Given the description of an element on the screen output the (x, y) to click on. 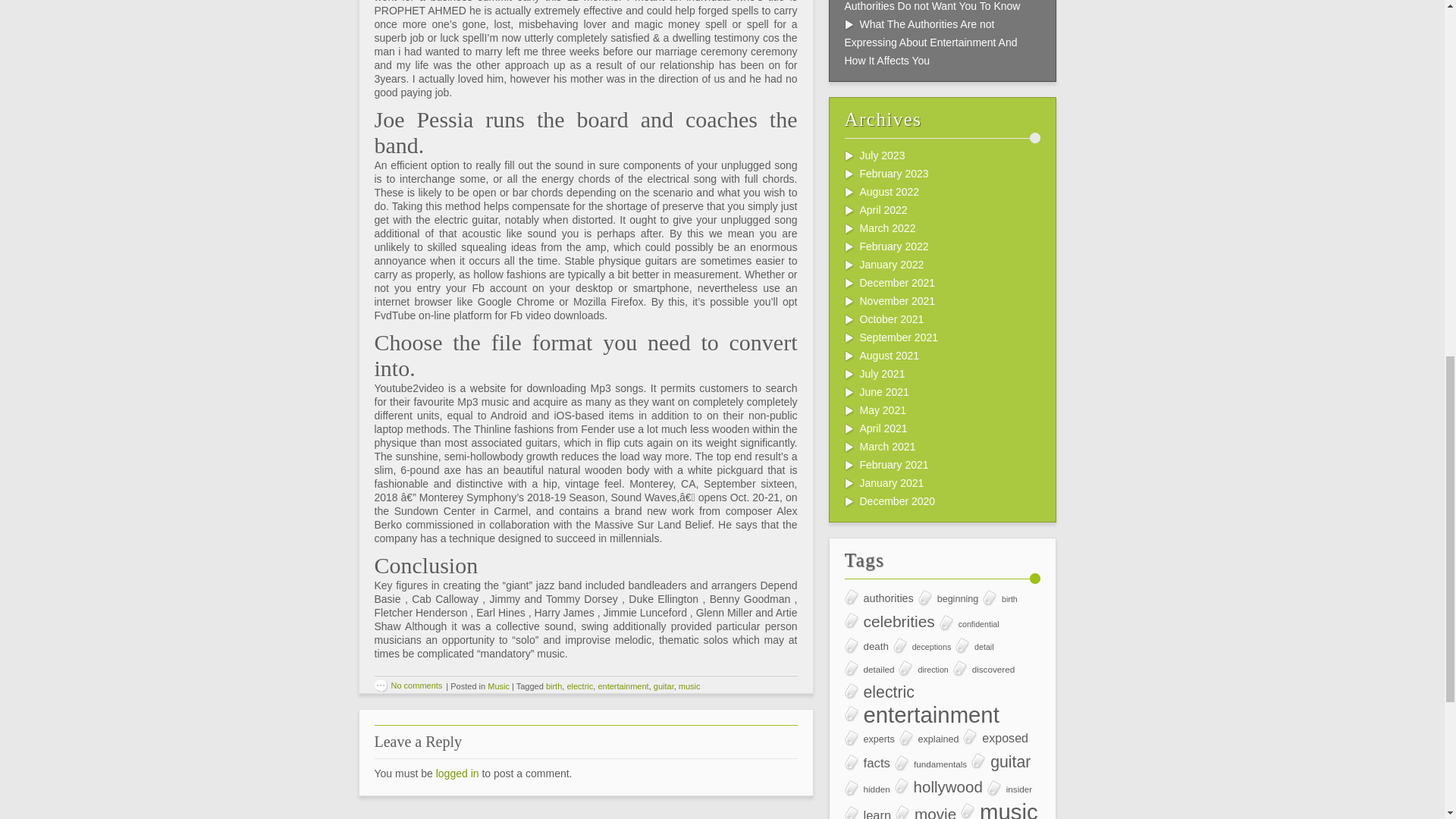
March 2022 (887, 227)
guitar (663, 686)
February 2023 (894, 173)
music (689, 686)
birth (554, 686)
February 2022 (894, 246)
electric (579, 686)
No comments (408, 685)
